Given the description of an element on the screen output the (x, y) to click on. 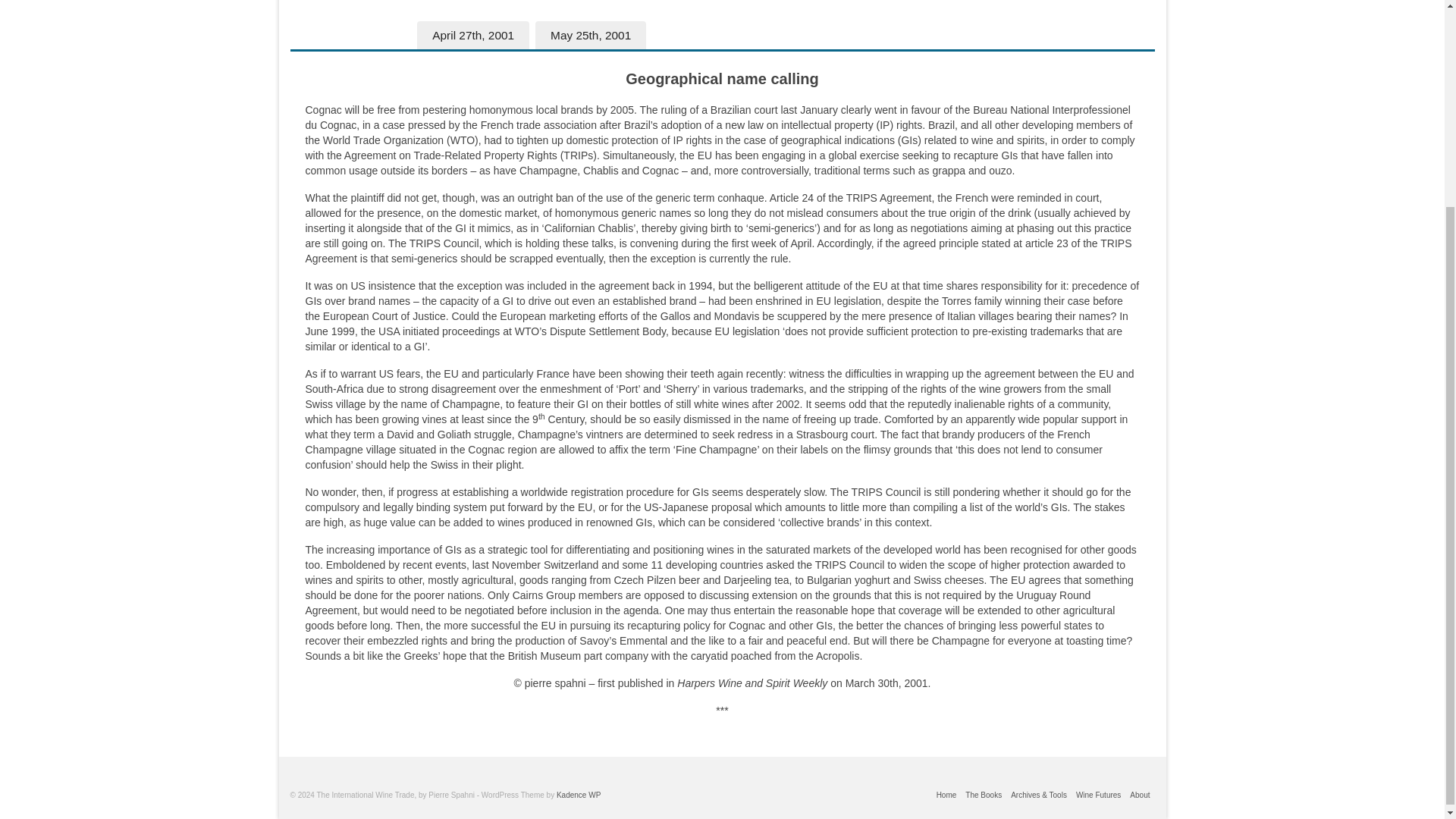
The Books (983, 795)
May 25th, 2001 (590, 35)
Wine Futures (1098, 795)
Kadence WP (577, 795)
March 30th, 2001 (349, 35)
About (1139, 795)
April 27th, 2001 (472, 35)
Home (945, 795)
